Given the description of an element on the screen output the (x, y) to click on. 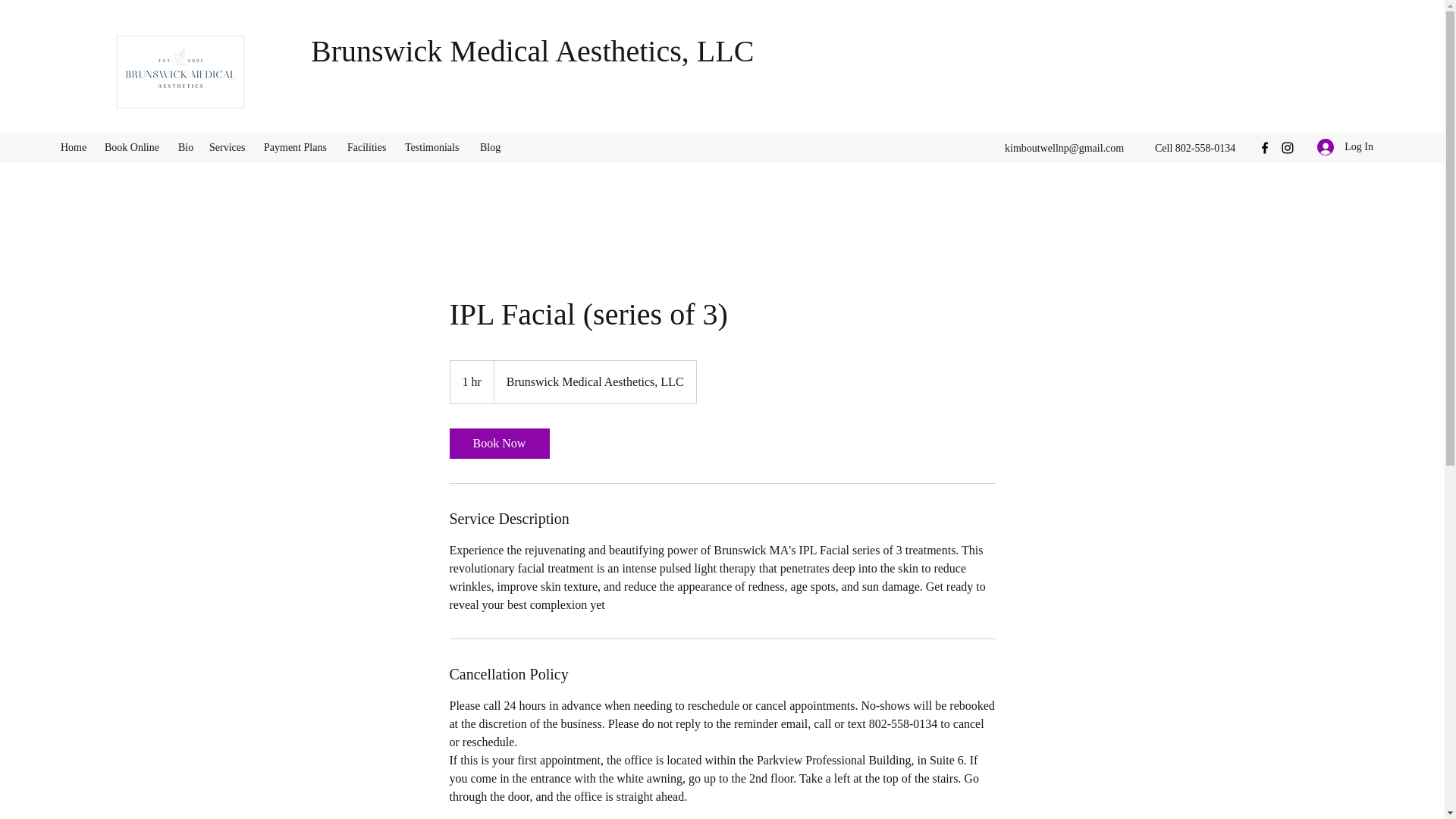
Home (74, 147)
Brunswick Medical Aesthetics, LLC (532, 50)
Payment Plans (297, 147)
Bio (186, 147)
Testimonials (434, 147)
Book Online (133, 147)
Log In (1345, 146)
Services (229, 147)
Facilities (368, 147)
Blog (489, 147)
Book Now (498, 443)
